Given the description of an element on the screen output the (x, y) to click on. 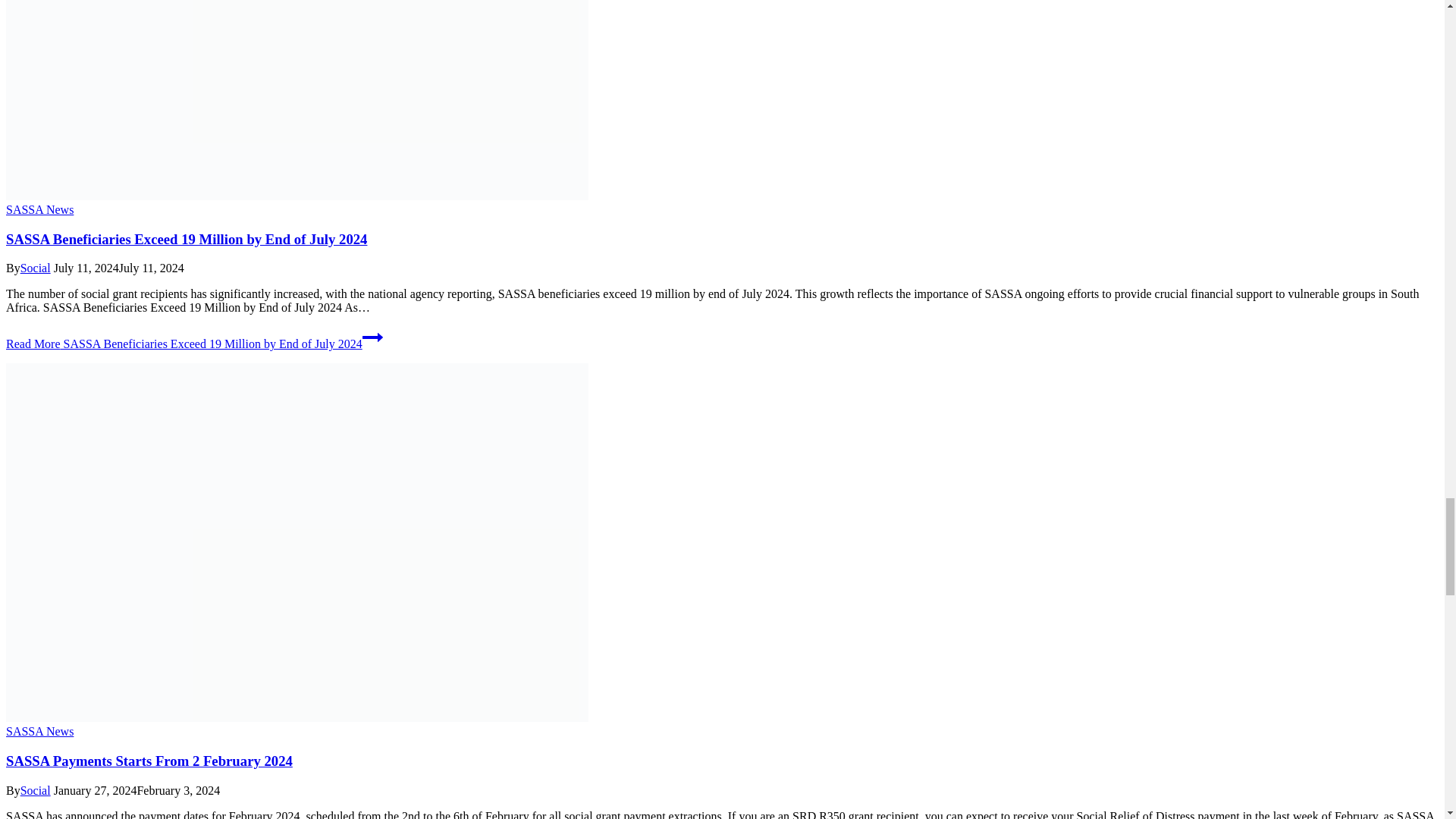
Continue (372, 337)
